Given the description of an element on the screen output the (x, y) to click on. 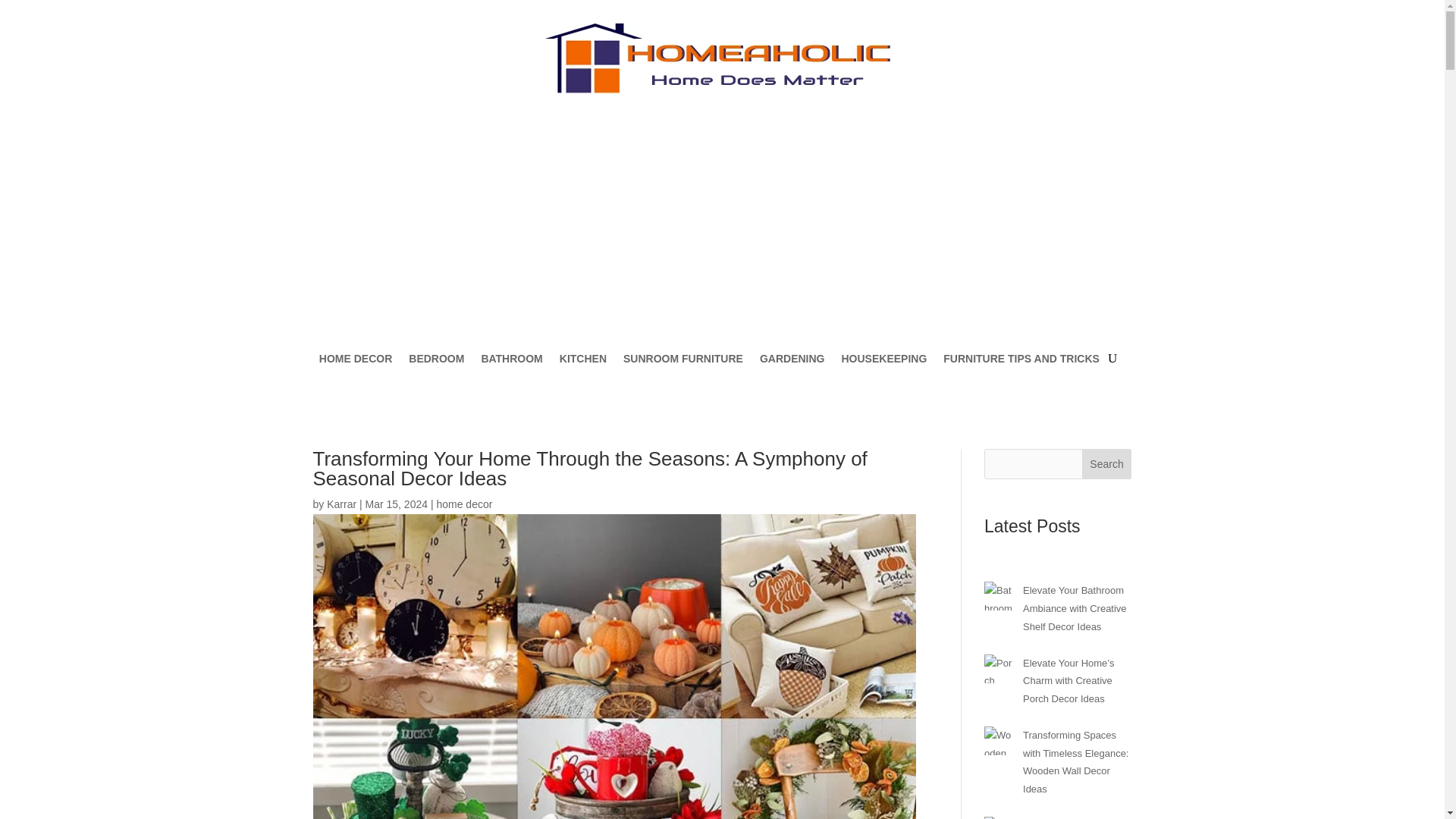
BEDROOM (436, 358)
GARDENING (792, 358)
HOUSEKEEPING (883, 358)
Karrar (341, 503)
FURNITURE TIPS AND TRICKS (1021, 358)
BATHROOM (510, 358)
home decor (463, 503)
HOME DECOR (354, 358)
Posts by Karrar (341, 503)
SUNROOM FURNITURE (682, 358)
